Given the description of an element on the screen output the (x, y) to click on. 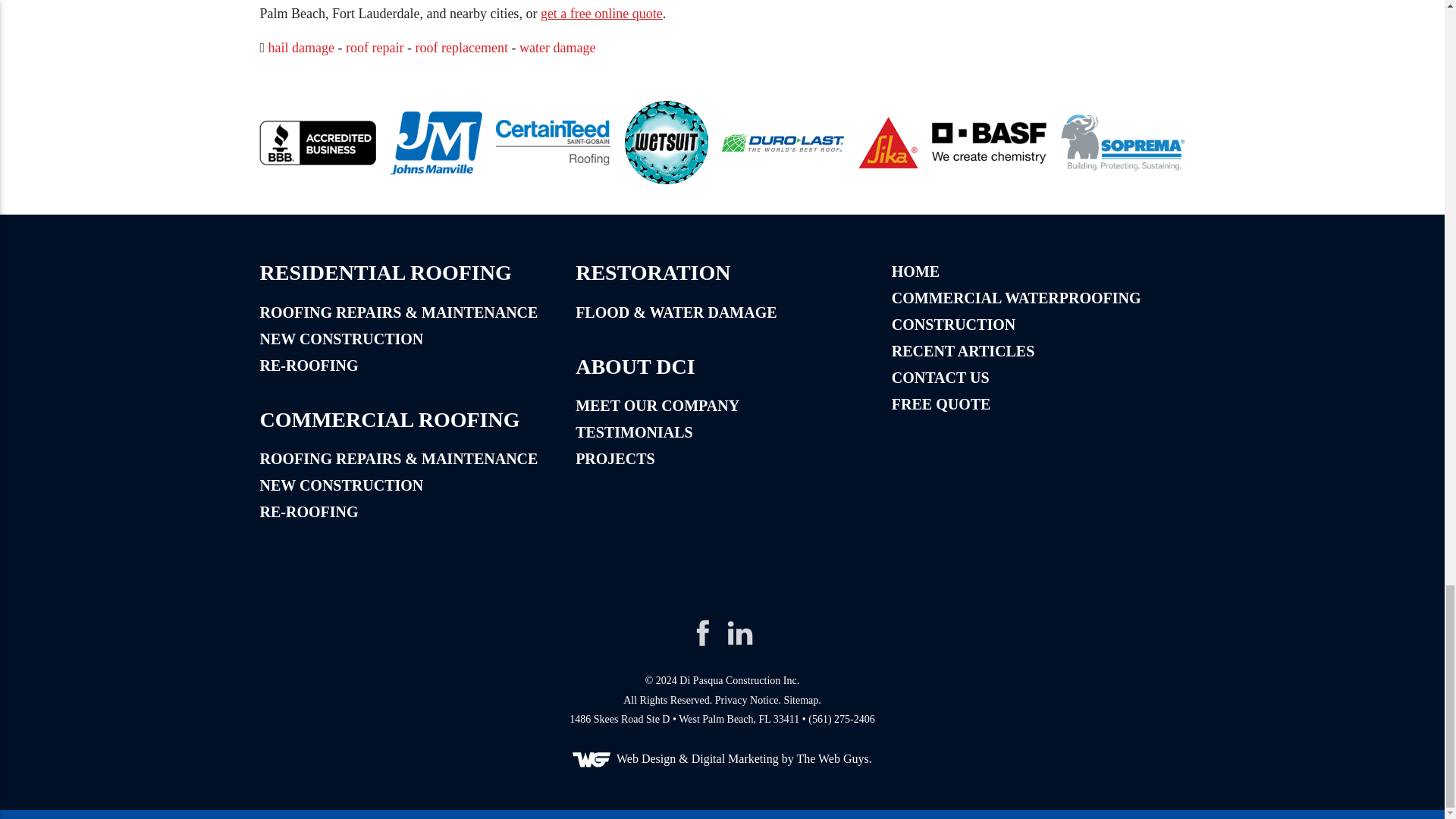
roof repair (374, 47)
roof replacement (461, 47)
get a free online quote (601, 13)
water damage (557, 47)
hail damage (300, 47)
